Given the description of an element on the screen output the (x, y) to click on. 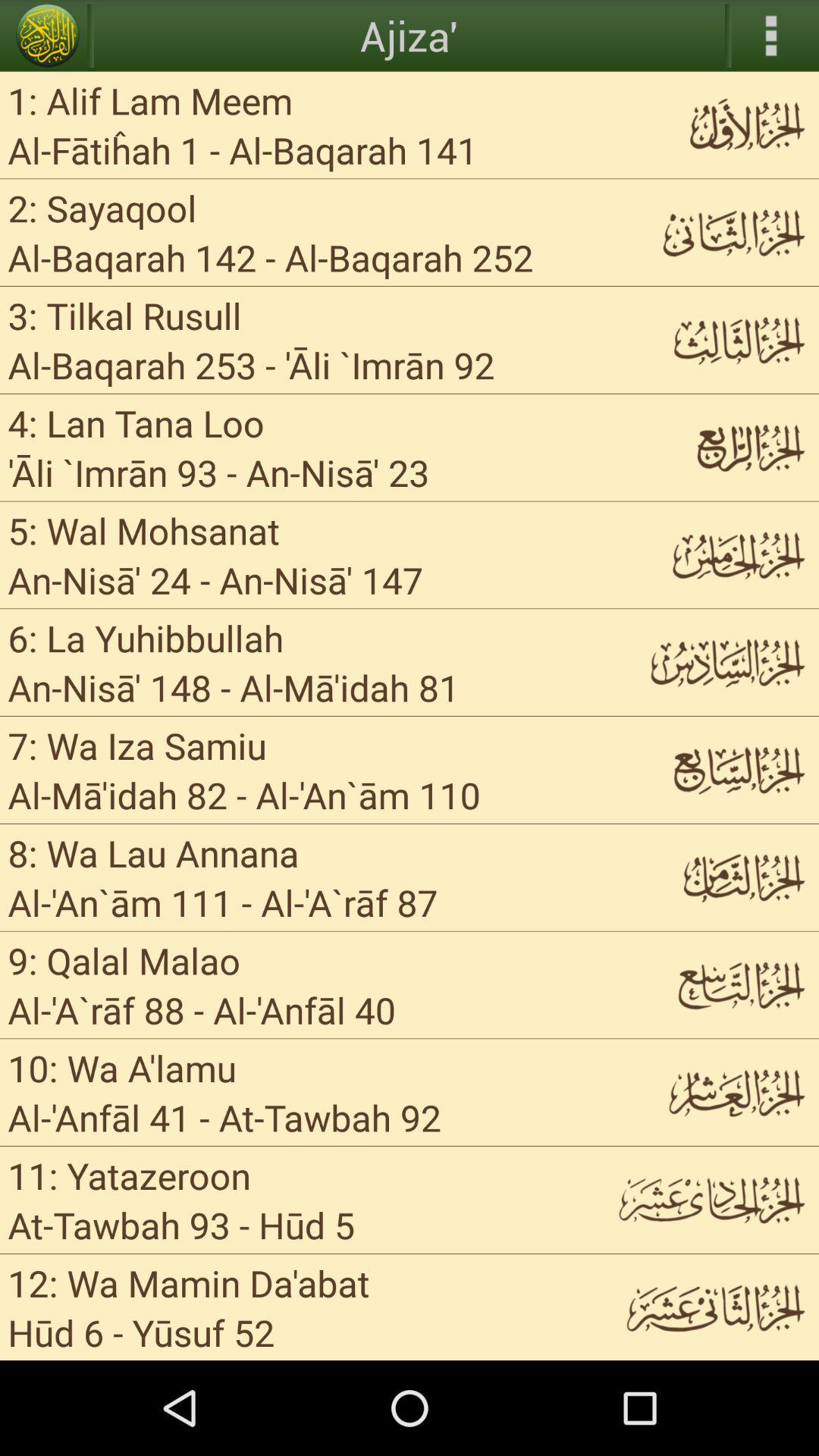
scroll to 11: yatazeroon (128, 1175)
